Given the description of an element on the screen output the (x, y) to click on. 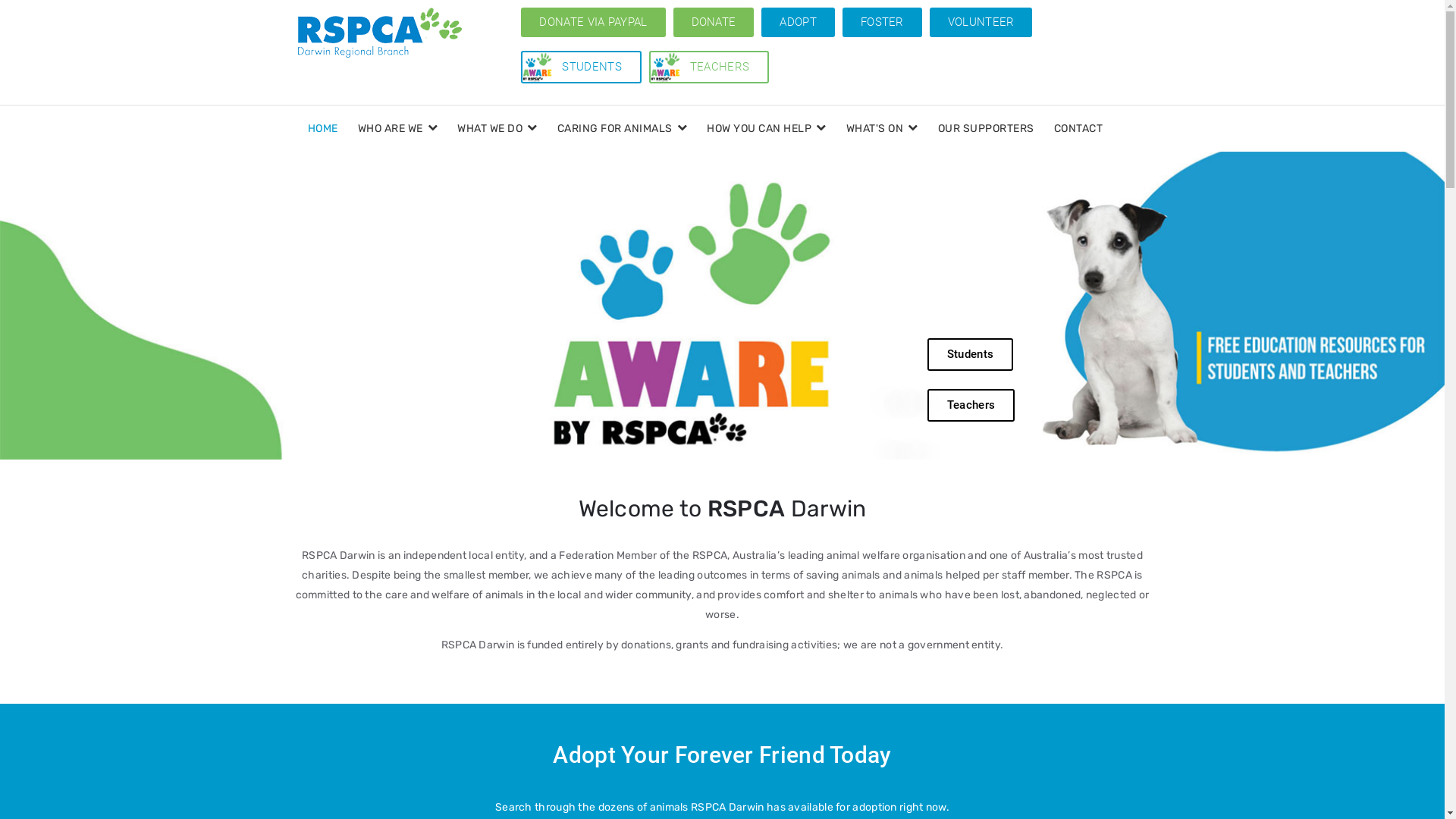
WHAT'S ON Element type: text (881, 128)
WHAT WE DO Element type: text (497, 128)
HOME Element type: text (322, 128)
CONTACT Element type: text (1077, 128)
DONATE VIA PAYPAL Element type: text (592, 22)
DONATE Element type: text (713, 22)
ADOPT Element type: text (797, 22)
TEACHERS Element type: text (719, 66)
WHO ARE WE Element type: text (397, 128)
VOLUNTEER Element type: text (980, 22)
HOW YOU CAN HELP Element type: text (766, 128)
STUDENTS Element type: text (591, 66)
FOSTER Element type: text (882, 22)
Students Element type: text (970, 354)
Teachers Element type: text (970, 405)
OUR SUPPORTERS Element type: text (986, 128)
CARING FOR ANIMALS Element type: text (622, 128)
